Given the description of an element on the screen output the (x, y) to click on. 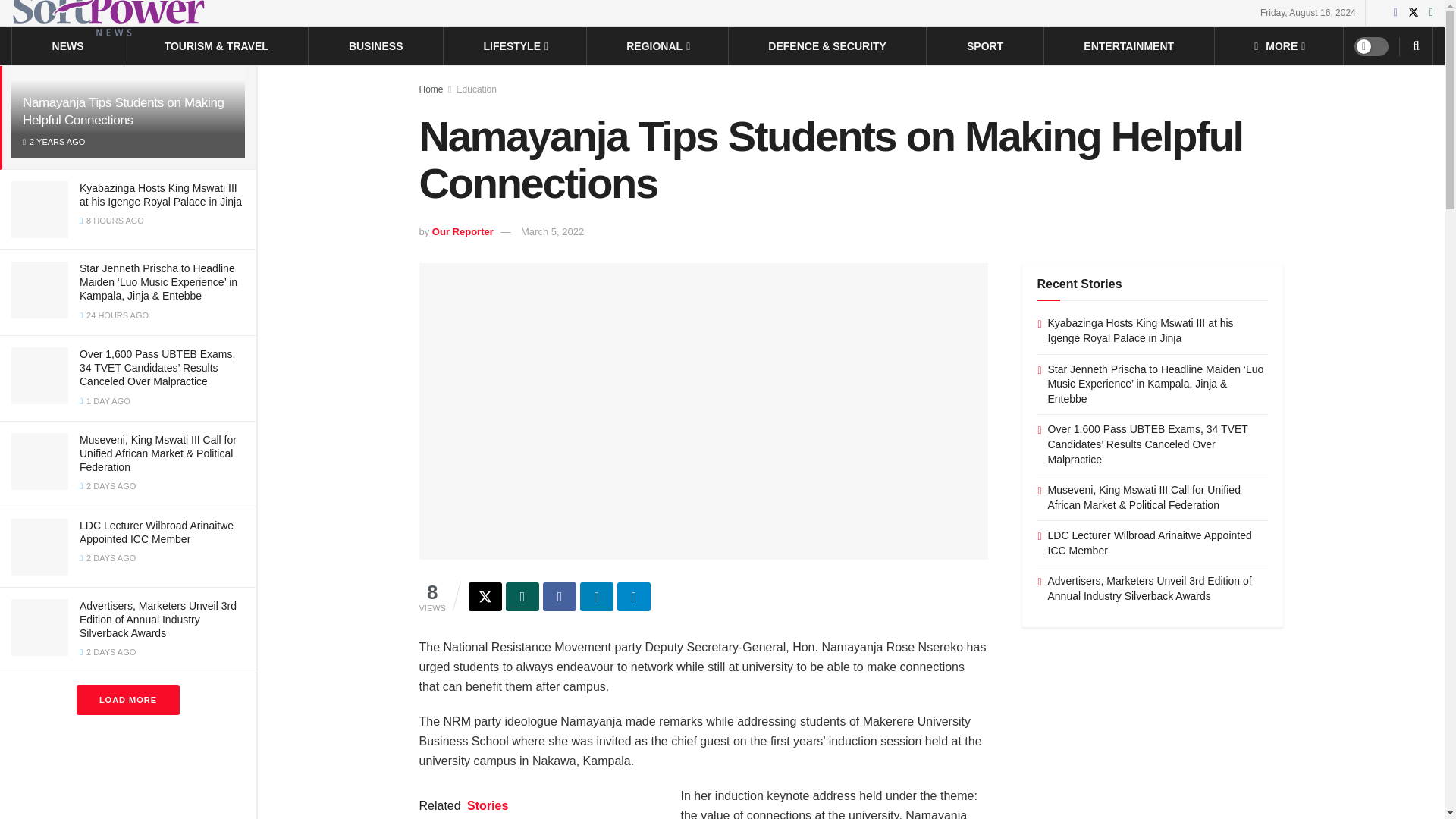
LDC Lecturer Wilbroad Arinaitwe Appointed ICC Member (156, 532)
BUSINESS (376, 46)
REGIONAL (656, 46)
Namayanja Tips Students on Making Helpful Connections (123, 111)
LIFESTYLE (515, 46)
LOAD MORE (128, 699)
MORE (1278, 46)
NEWS (68, 46)
SPORT (984, 46)
